Given the description of an element on the screen output the (x, y) to click on. 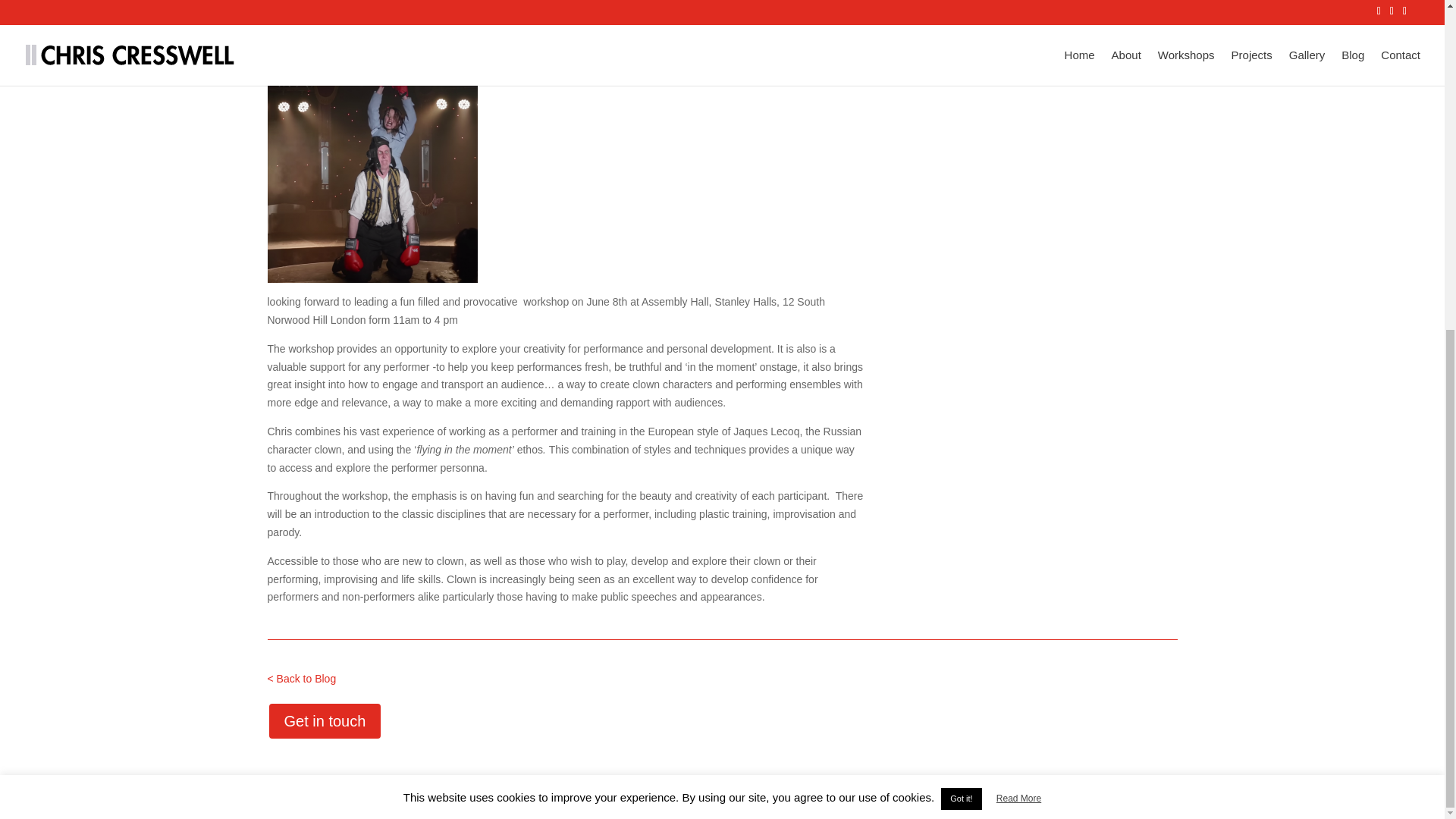
Site by Cloud 8 (399, 797)
Website by  Cloud 8 (399, 797)
Get in touch (323, 720)
Got it! (960, 253)
Read More (1018, 253)
